Given the description of an element on the screen output the (x, y) to click on. 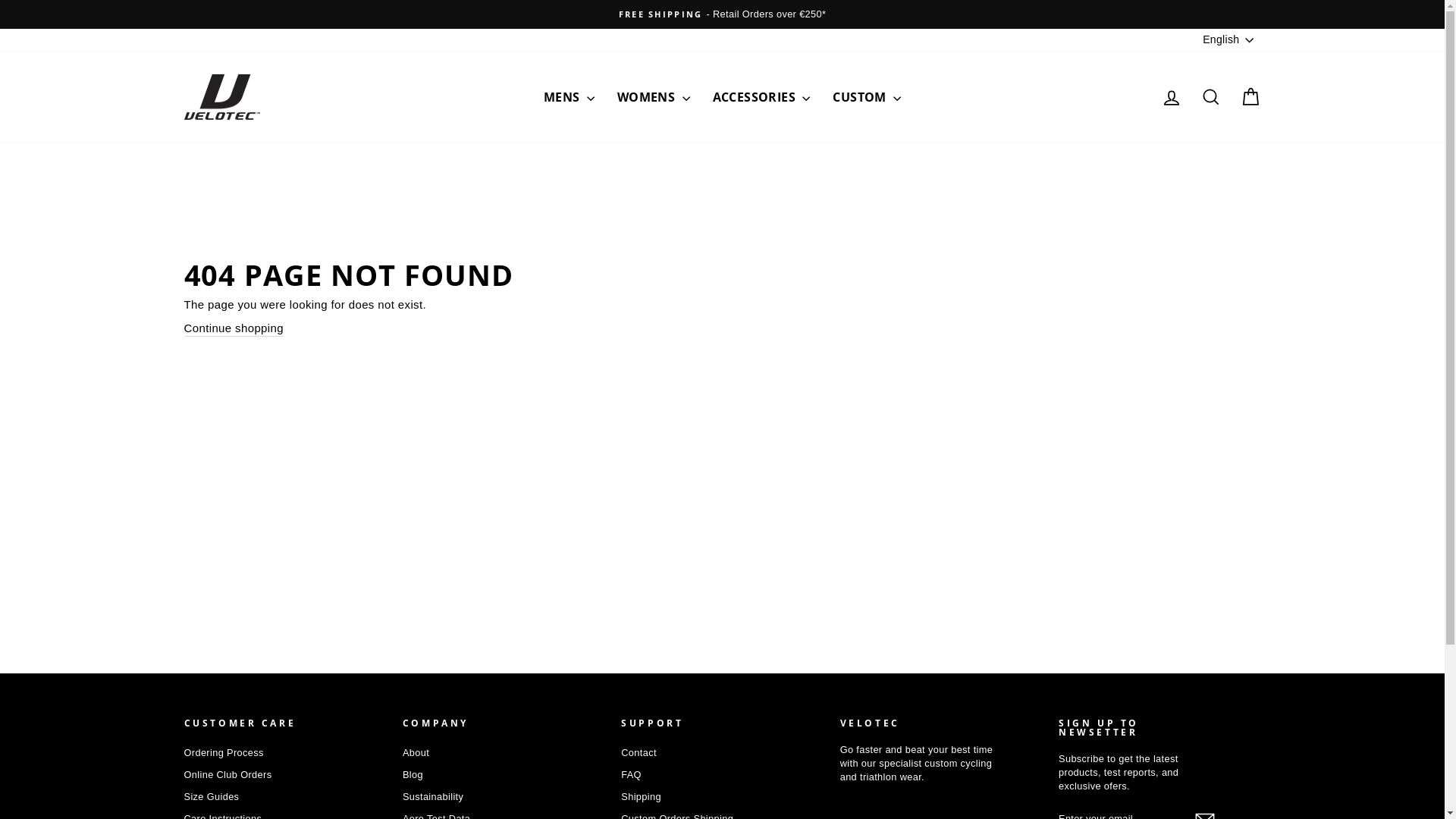
FAQ Element type: text (631, 774)
Size Guides Element type: text (210, 796)
Shipping Element type: text (641, 796)
English Element type: text (1229, 39)
CART Element type: text (1249, 96)
Blog Element type: text (412, 774)
Sustainability Element type: text (432, 796)
Online Club Orders Element type: text (227, 774)
ACCOUNT
LOG IN Element type: text (1170, 96)
Continue shopping Element type: text (232, 328)
About Element type: text (415, 752)
ICON-SEARCH
SEARCH Element type: text (1210, 96)
Ordering Process Element type: text (223, 752)
Contact Element type: text (638, 752)
